Given the description of an element on the screen output the (x, y) to click on. 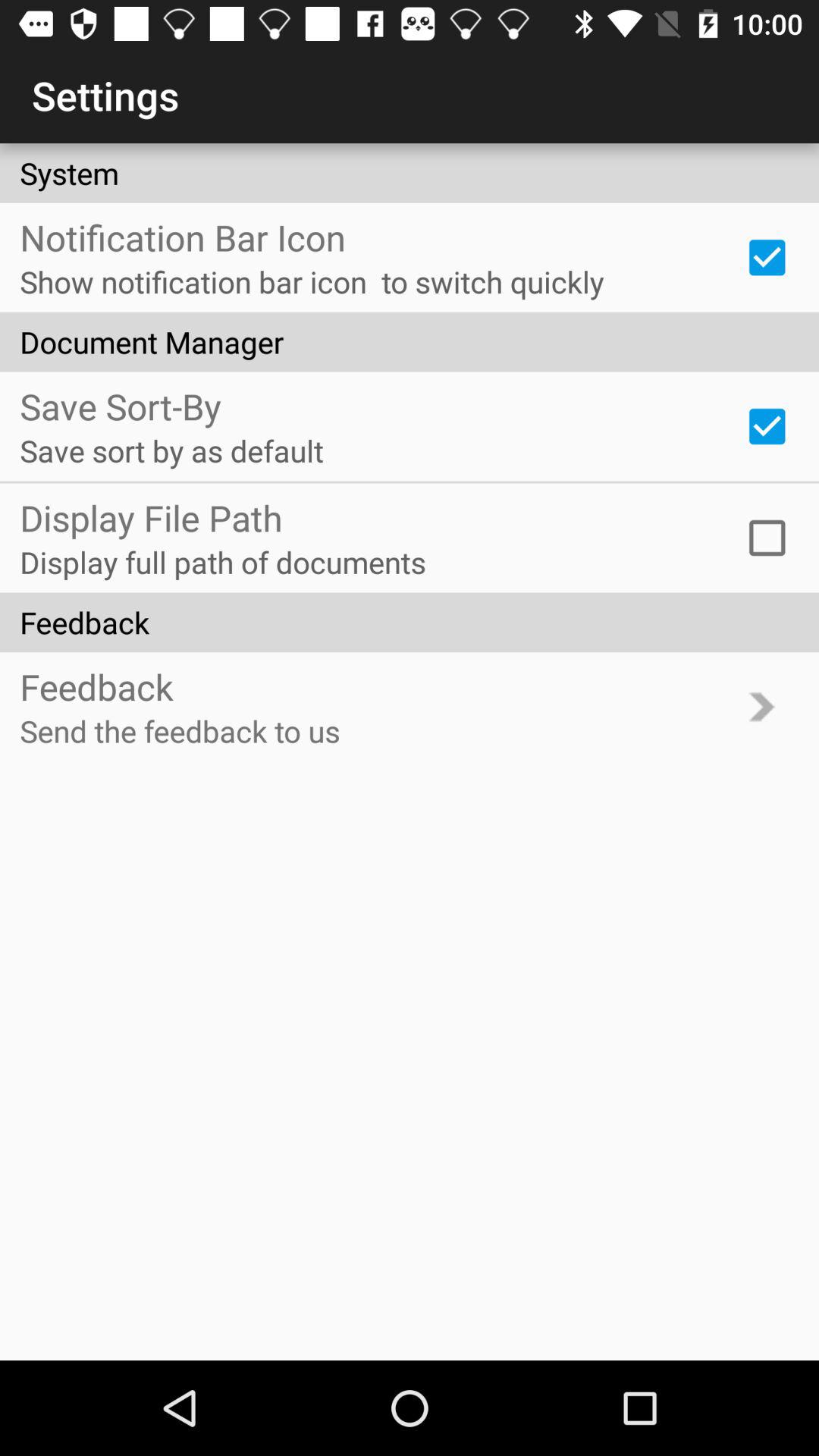
open item above feedback (767, 537)
